Given the description of an element on the screen output the (x, y) to click on. 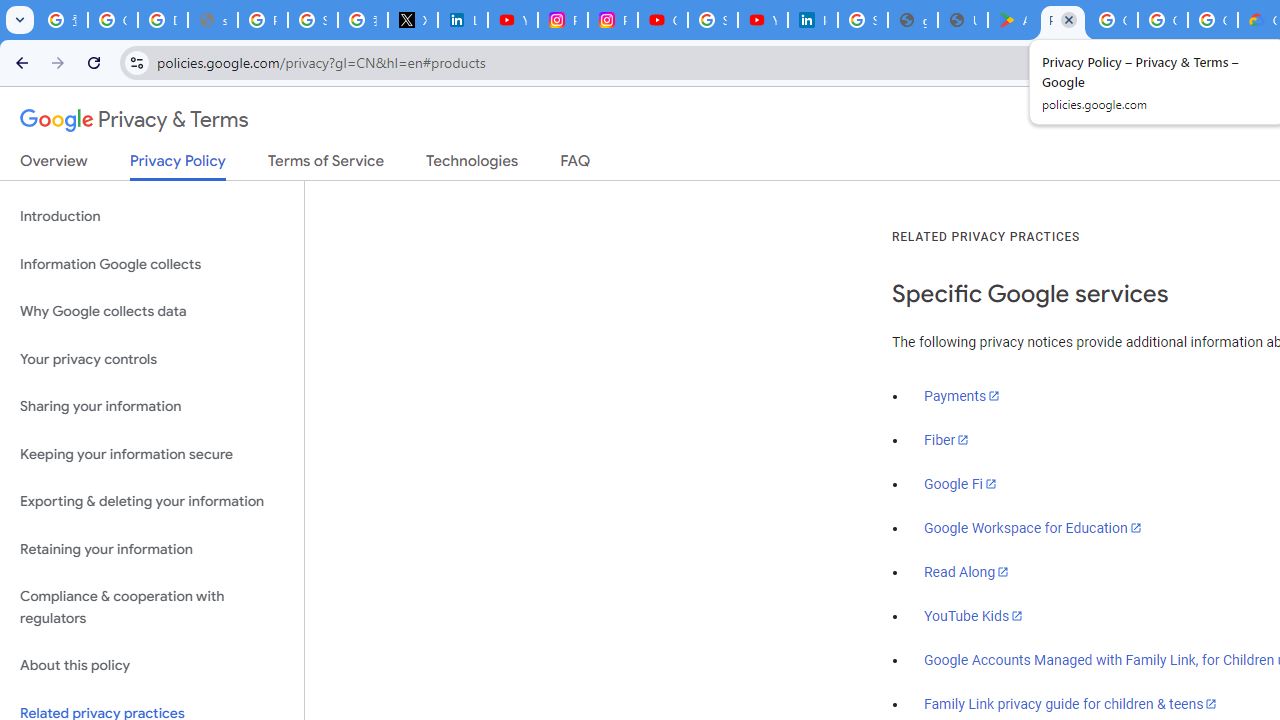
Google Workspace - Specific Terms (1212, 20)
YouTube Kids (974, 615)
Fiber (947, 440)
About this policy (152, 666)
Google Workspace - Specific Terms (1162, 20)
Privacy Policy (177, 166)
FAQ (575, 165)
X (412, 20)
